Given the description of an element on the screen output the (x, y) to click on. 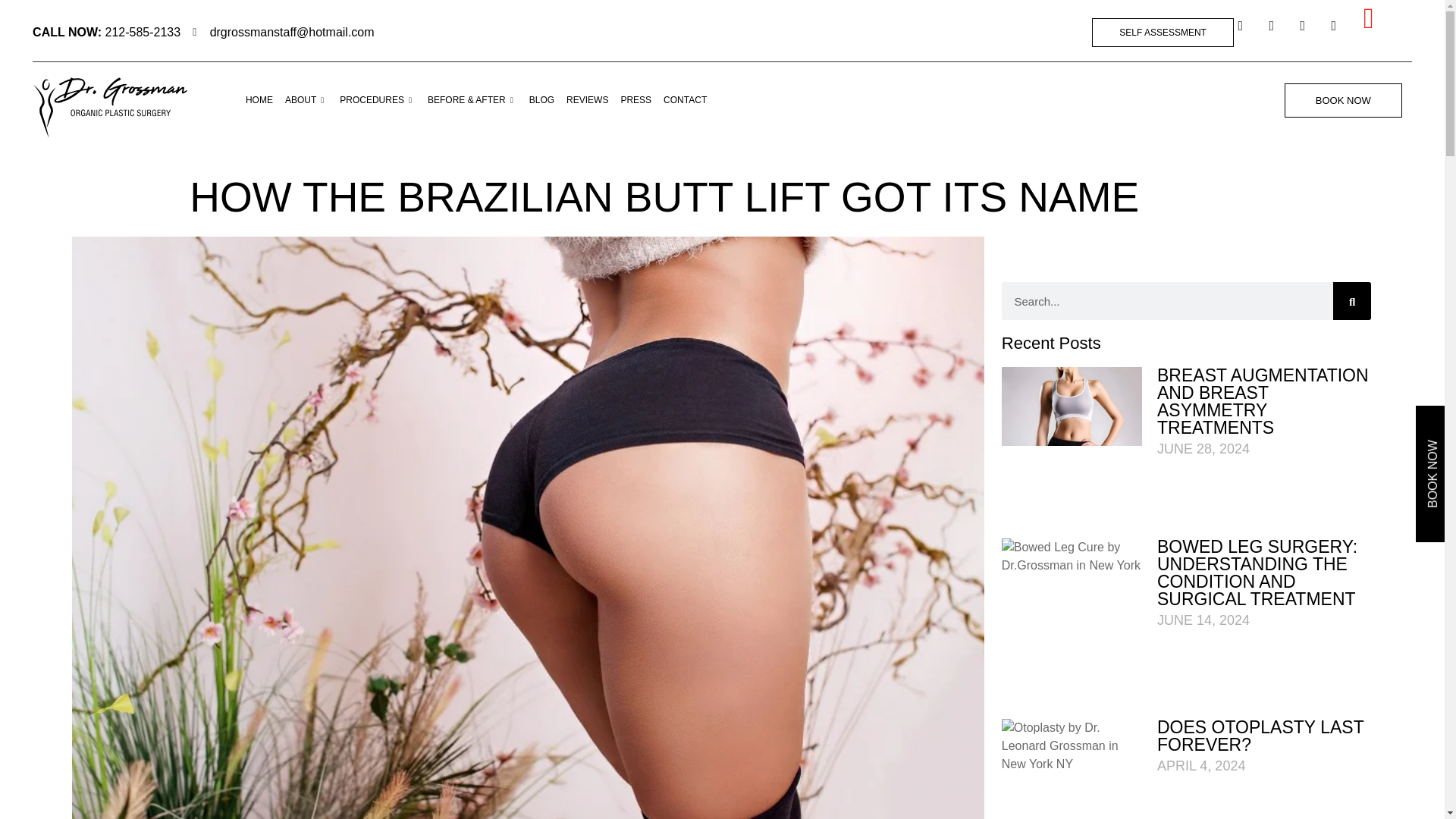
ABOUT (306, 99)
CALL NOW: 212-585-2133 (106, 32)
SELF ASSESSMENT (1162, 32)
PROCEDURES (377, 99)
